Given the description of an element on the screen output the (x, y) to click on. 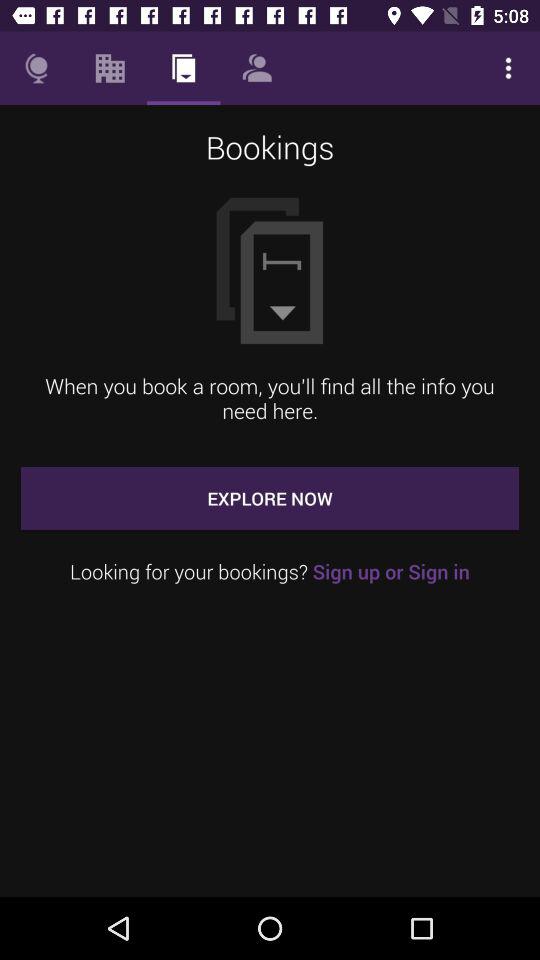
launch the item above the bookings icon (109, 68)
